Given the description of an element on the screen output the (x, y) to click on. 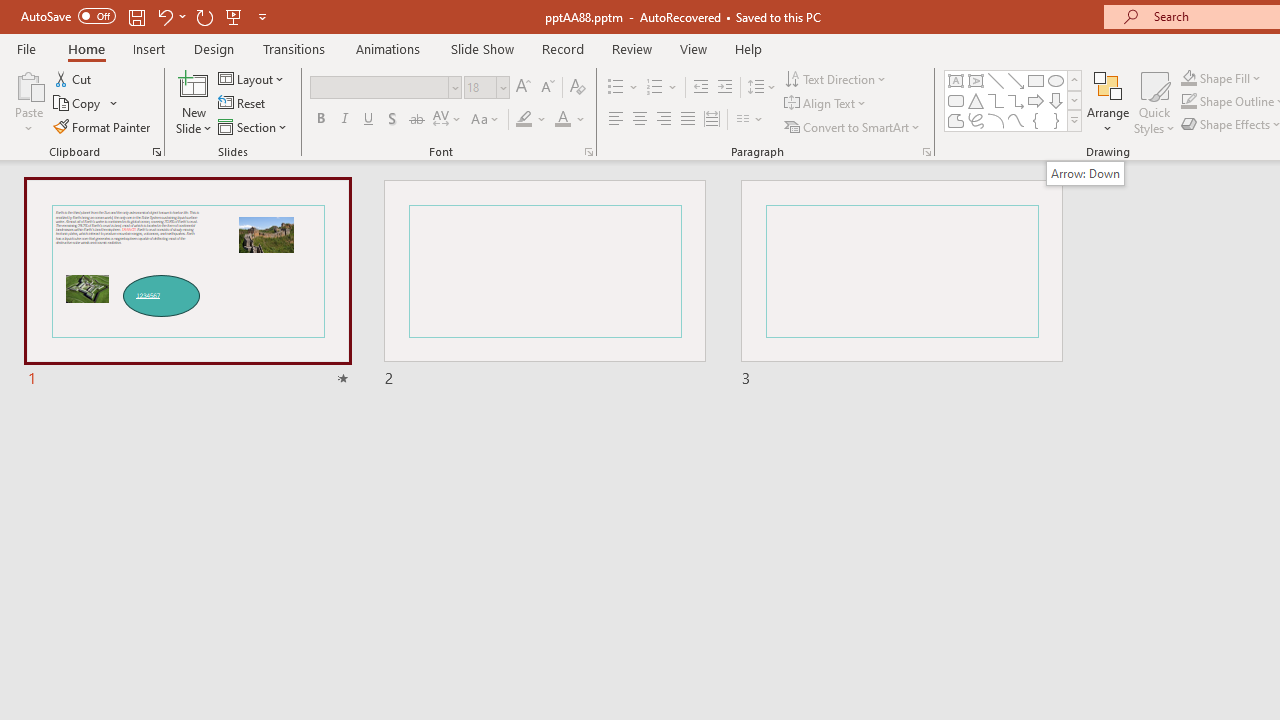
Shape Outline Teal, Accent 1 (1188, 101)
Change Case (486, 119)
Center (639, 119)
Reset (243, 103)
Row Down (1074, 100)
Office Clipboard... (156, 151)
Row up (1074, 79)
AutomationID: ShapesInsertGallery (1014, 100)
Font Color (569, 119)
